Given the description of an element on the screen output the (x, y) to click on. 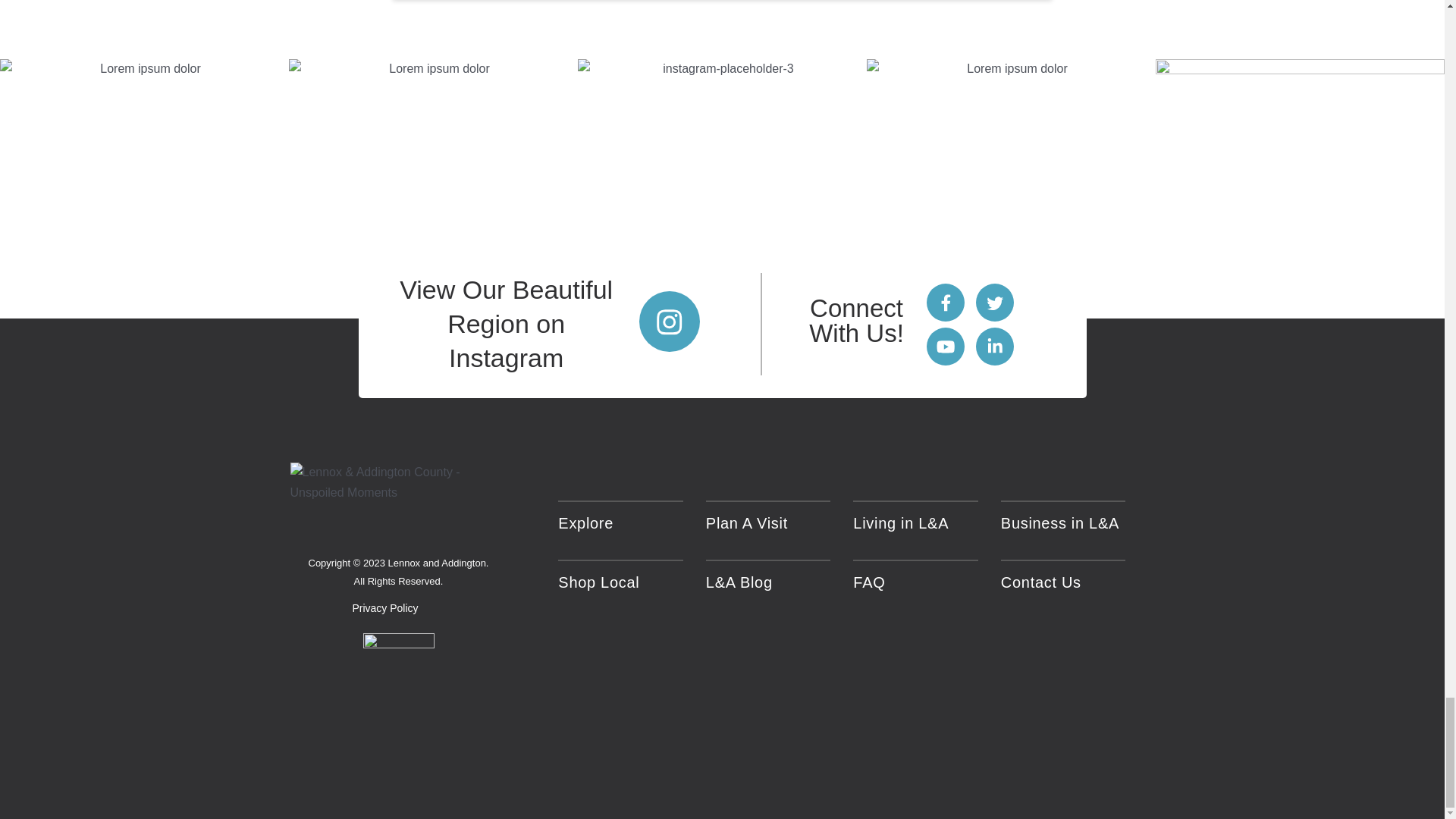
instagram-placeholder-3 (722, 188)
